Given the description of an element on the screen output the (x, y) to click on. 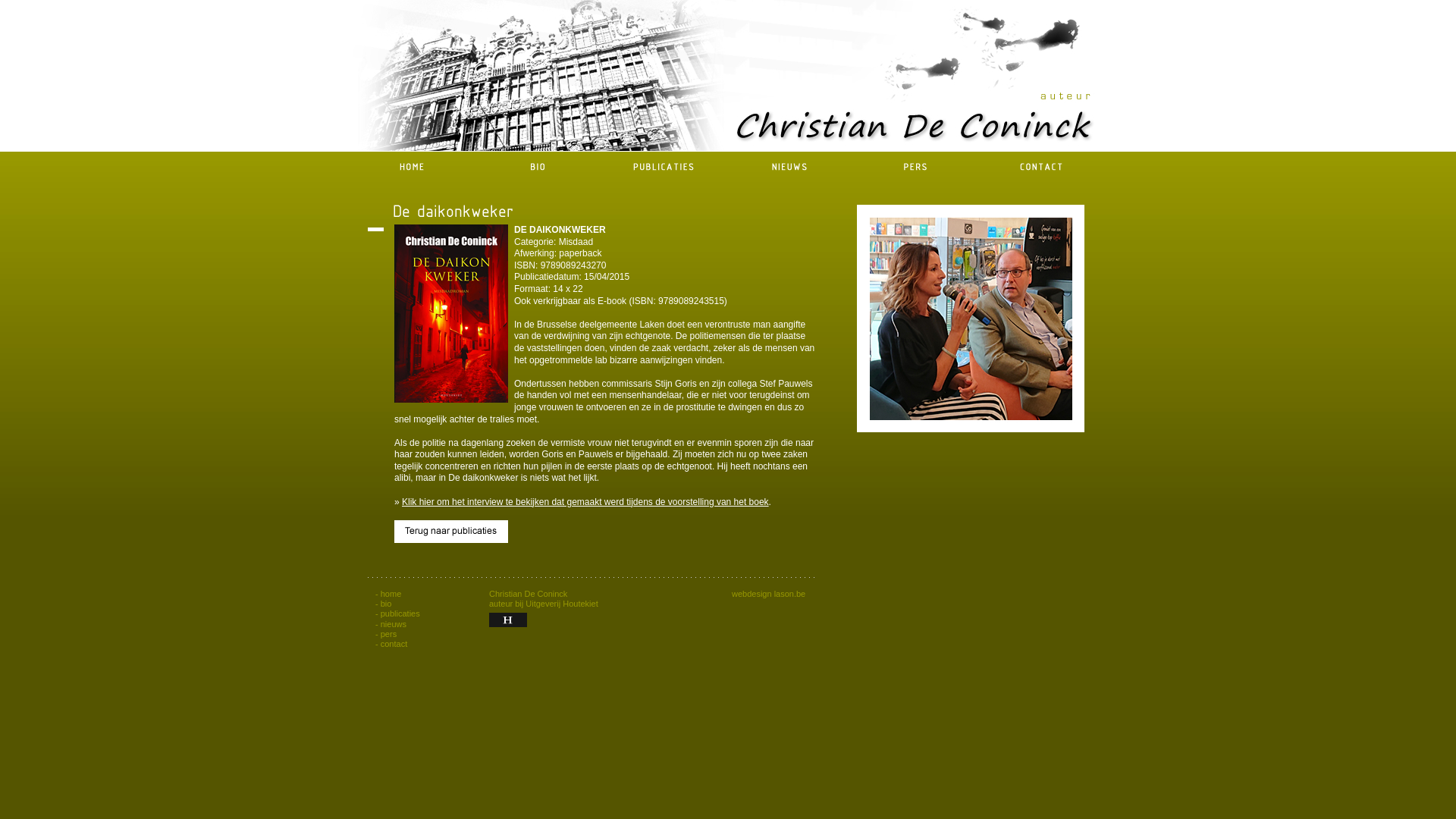
pers Element type: text (388, 633)
Christian De Coninck Element type: hover (970, 318)
webdesign lason.be Element type: text (768, 593)
Christian De Coninck bij Uitgeverij Houtekiet Element type: hover (508, 619)
bio Element type: text (386, 603)
home Element type: text (390, 593)
publicaties Element type: text (400, 613)
contact Element type: text (393, 643)
nieuws Element type: text (393, 623)
